Given the description of an element on the screen output the (x, y) to click on. 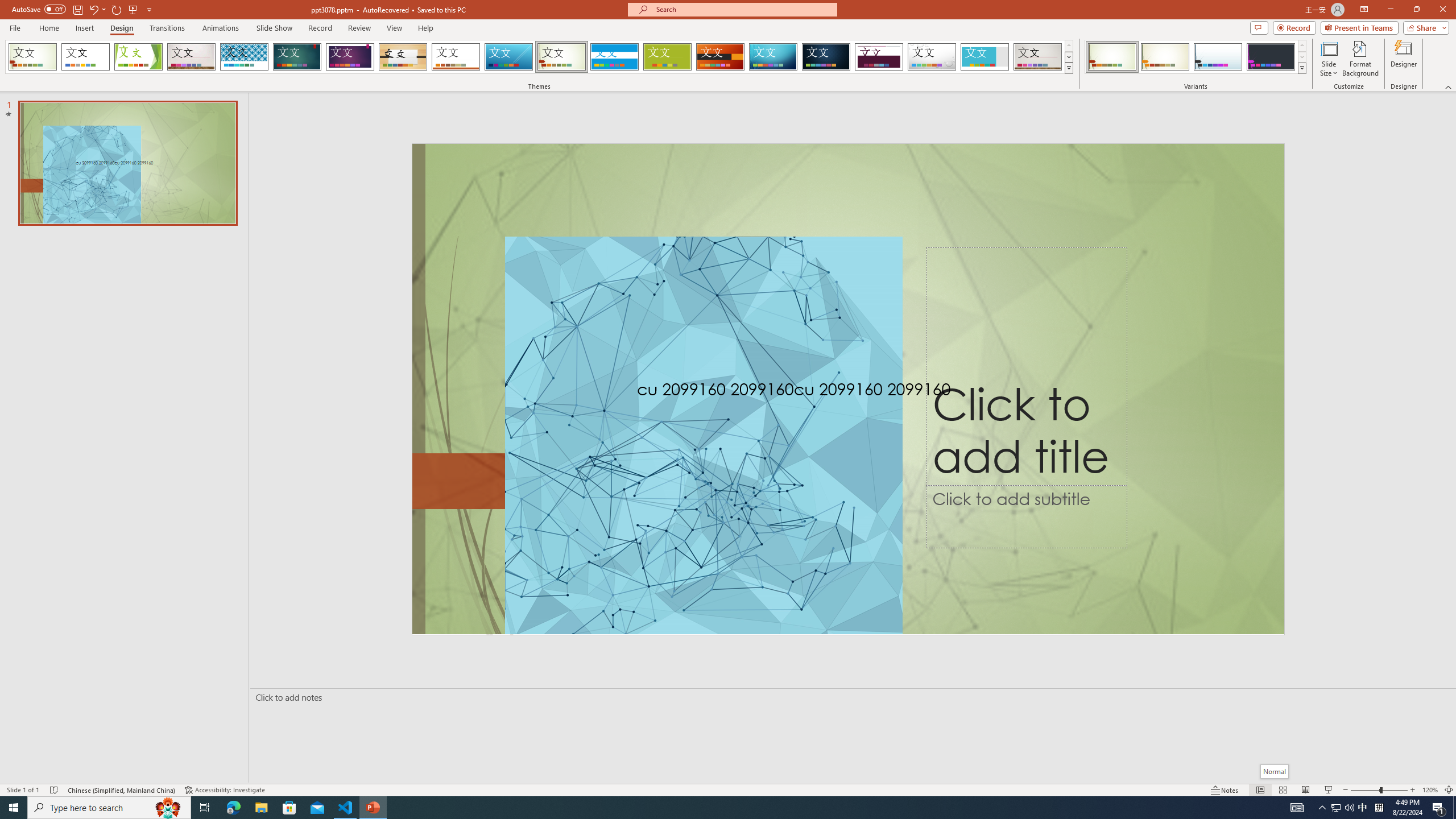
AutomationID: SlideThemesGallery (539, 56)
Wisp Variant 4 (1270, 56)
AutomationID: ThemeVariantsGallery (1195, 56)
Format Background (1360, 58)
Damask Loading Preview... (826, 56)
Berlin Loading Preview... (720, 56)
